Given the description of an element on the screen output the (x, y) to click on. 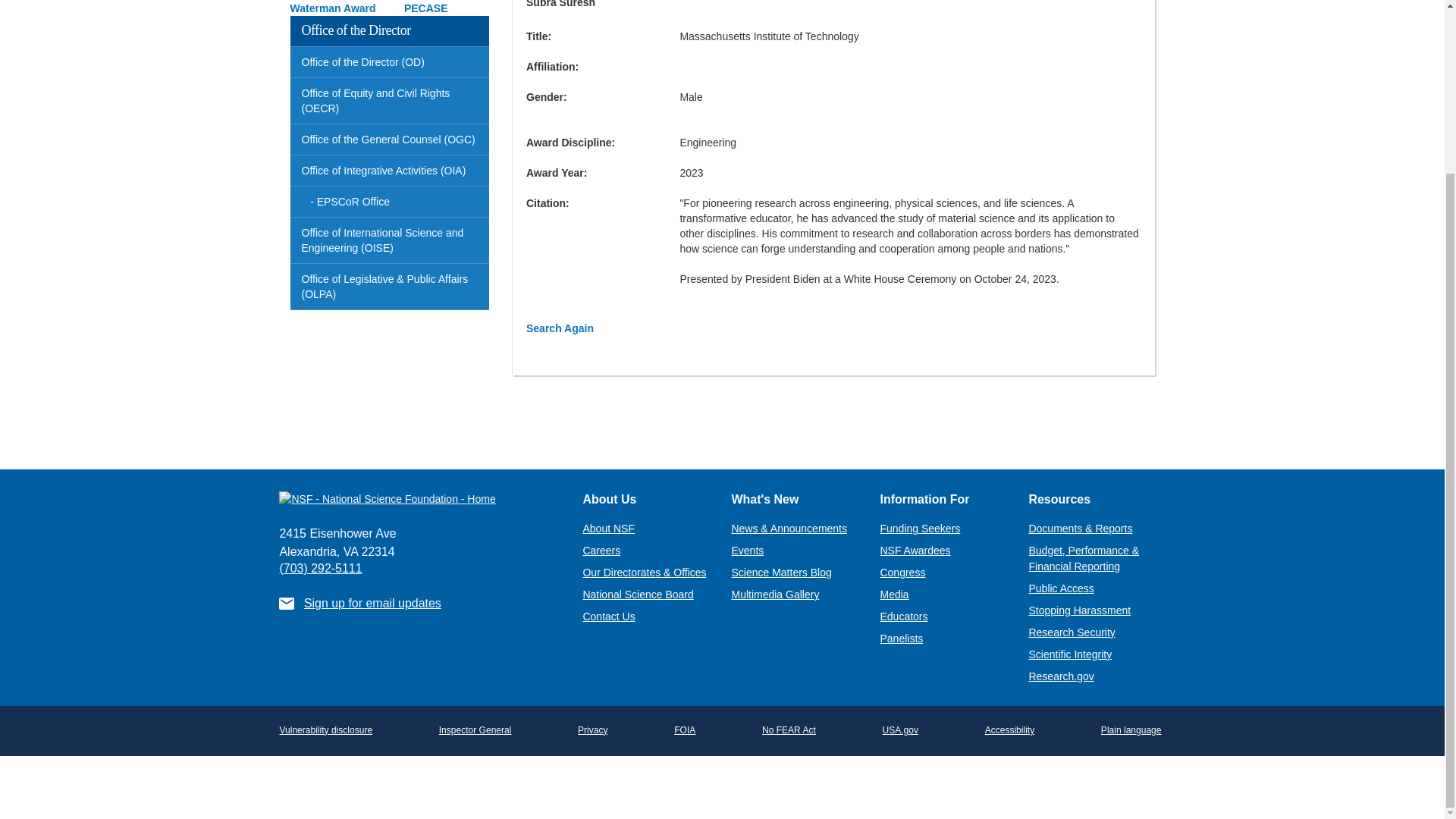
Careers (601, 550)
Sign up for email updates (372, 603)
NSF - National Science Foundation - Home (418, 498)
National Science Board (637, 594)
   - EPSCoR Office (389, 201)
PECASE (426, 8)
Alan T. Waterman Award (382, 7)
Search Again (559, 328)
About NSF (607, 528)
